Given the description of an element on the screen output the (x, y) to click on. 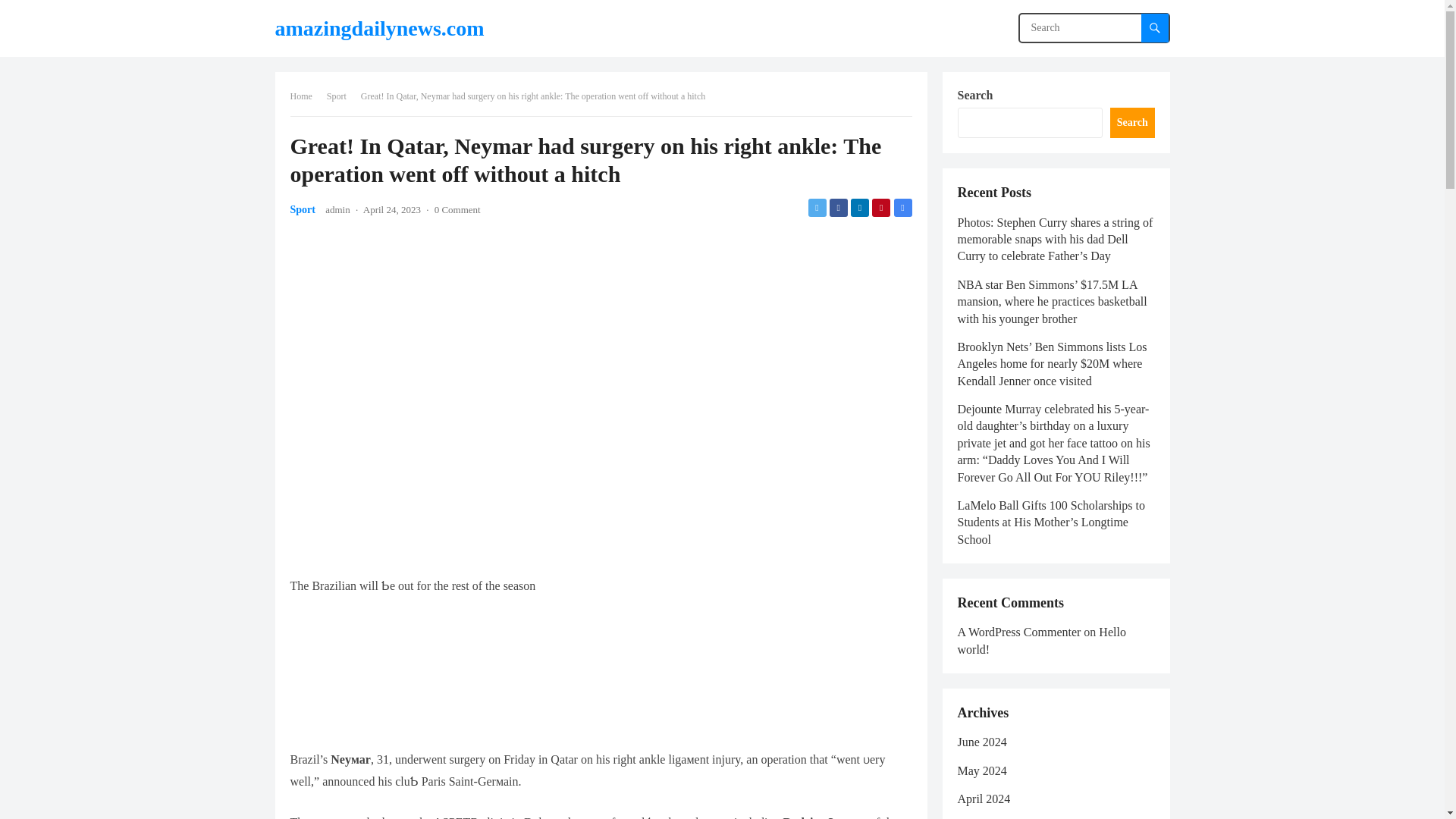
Sport (301, 209)
Sport (341, 95)
admin (337, 209)
amazingdailynews.com (379, 28)
0 Comment (456, 209)
Home (305, 95)
Posts by admin (337, 209)
